Given the description of an element on the screen output the (x, y) to click on. 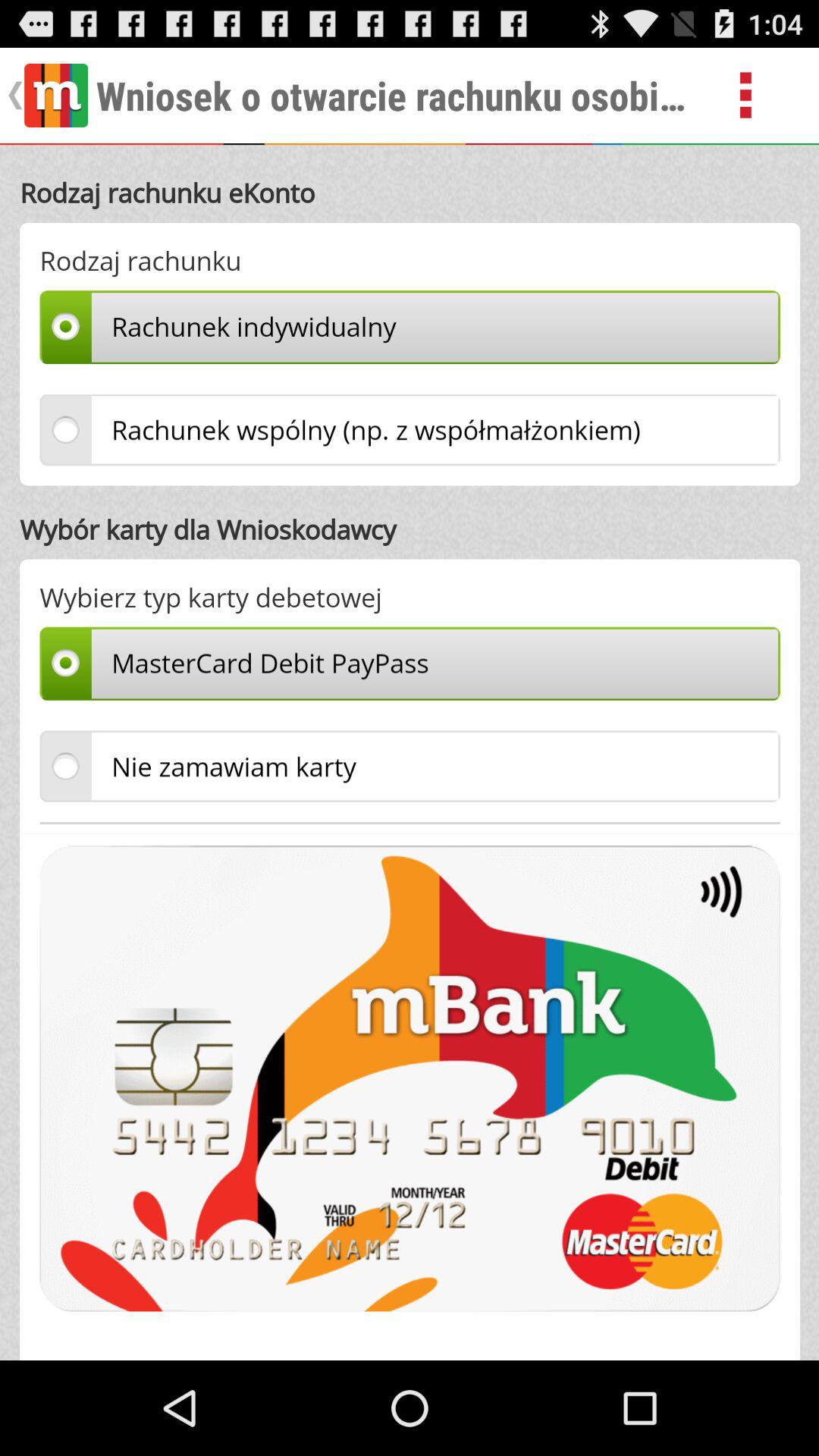
open menu (763, 95)
